Given the description of an element on the screen output the (x, y) to click on. 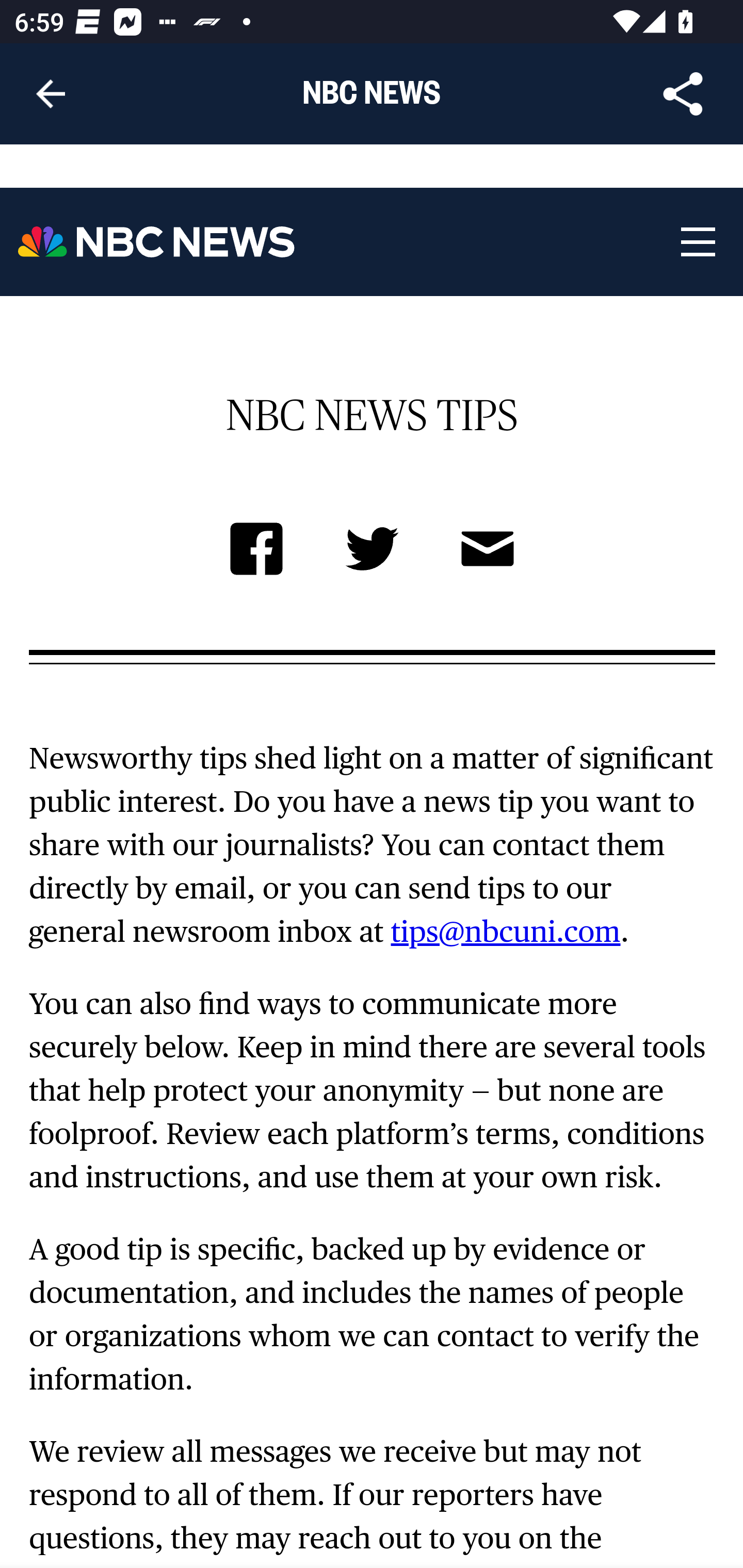
Navigate up (50, 93)
Share Article, button (683, 94)
NBC News Logo (156, 242)
news navigation and search (696, 242)
Share on Facebook (256, 552)
Tweet (372, 552)
Email (487, 552)
tips@nbcuni.com (505, 932)
